Given the description of an element on the screen output the (x, y) to click on. 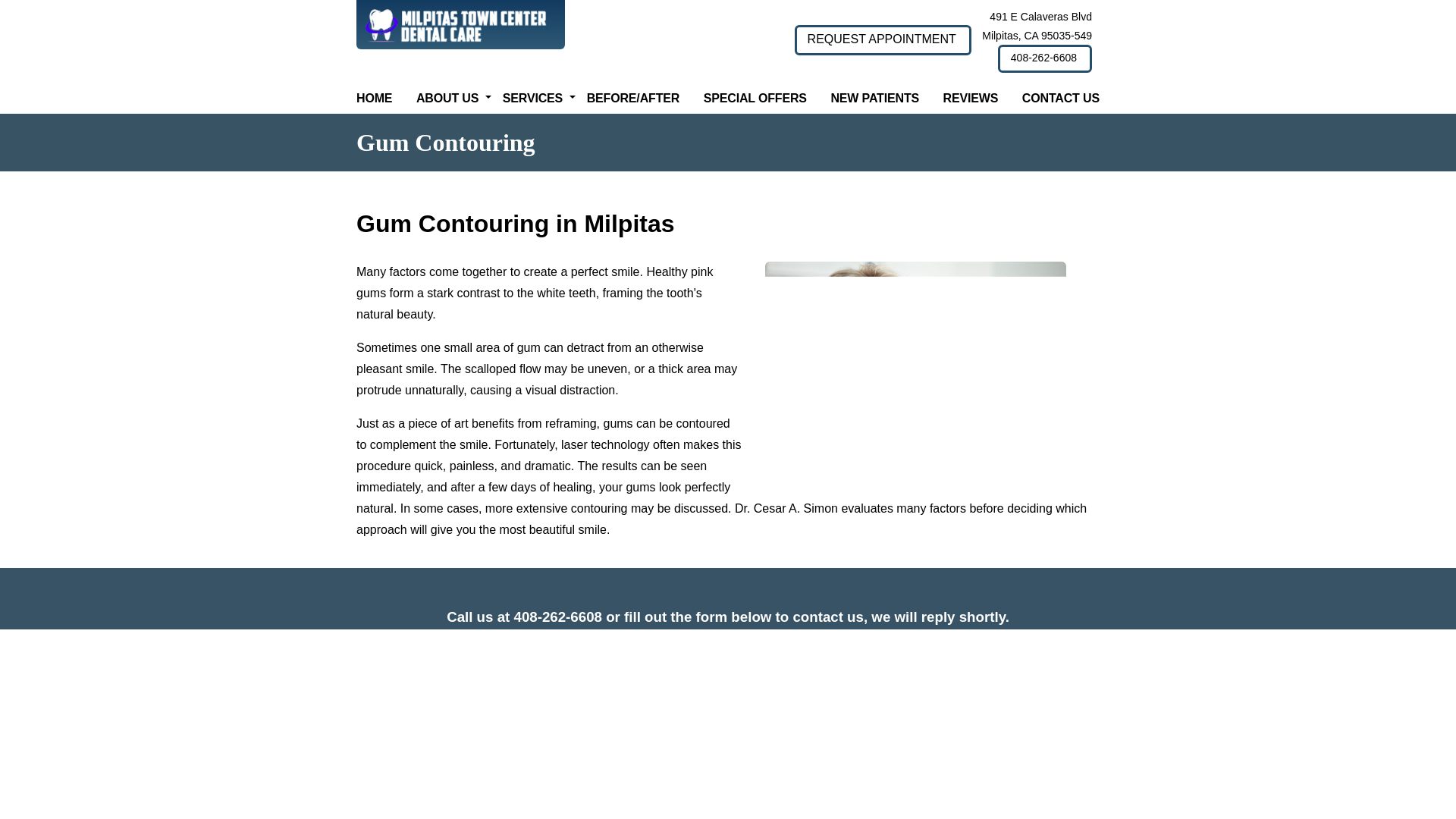
SERVICES (532, 105)
SPECIAL OFFERS (754, 105)
REVIEWS (970, 105)
NEW PATIENTS (873, 105)
REQUEST APPOINTMENT (882, 40)
ABOUT US (447, 105)
HOME (373, 105)
CONTACT US (1060, 105)
408-262-6608 (1044, 58)
